Given the description of an element on the screen output the (x, y) to click on. 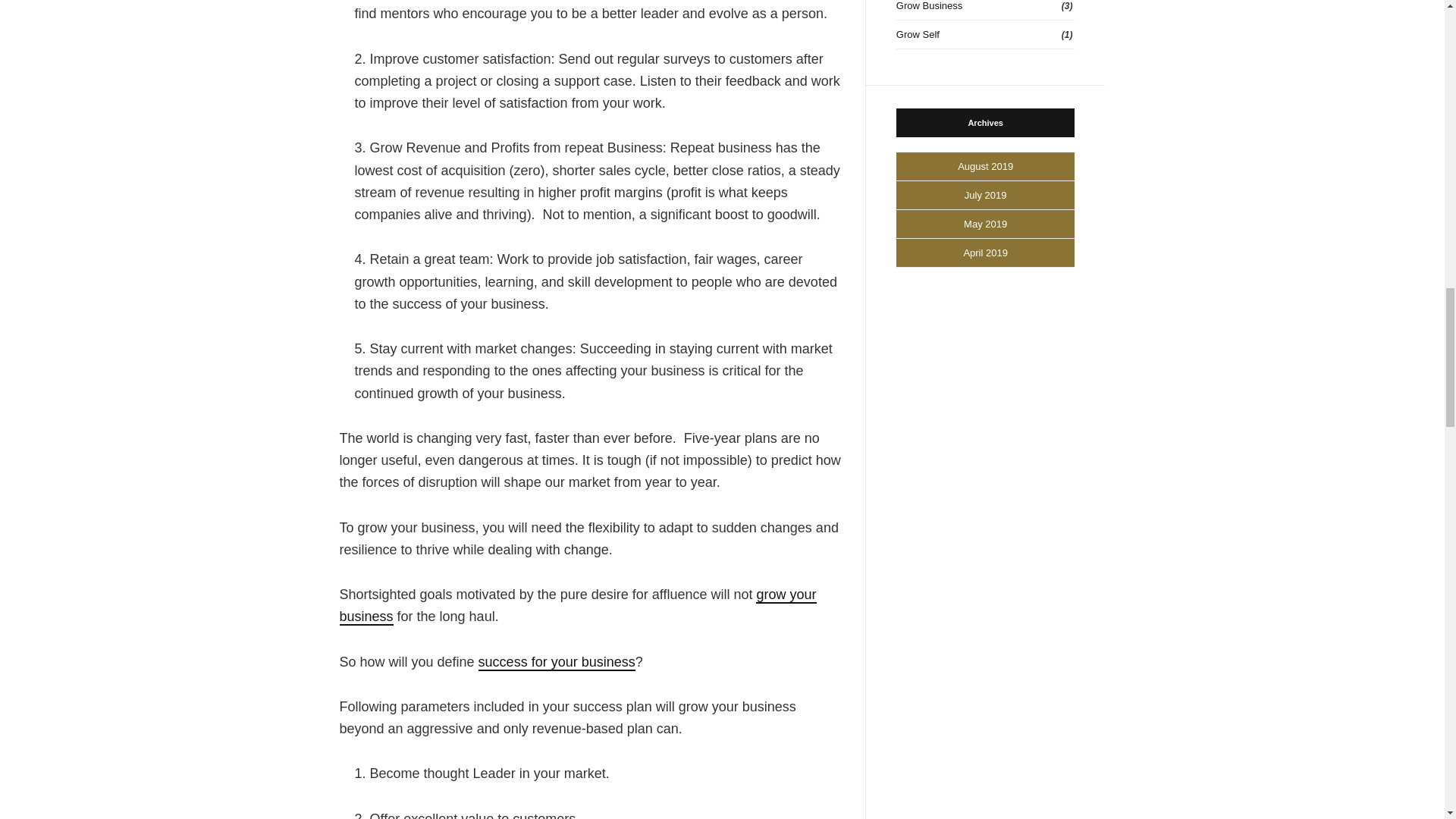
grow your business (577, 606)
success for your business (556, 662)
